Given the description of an element on the screen output the (x, y) to click on. 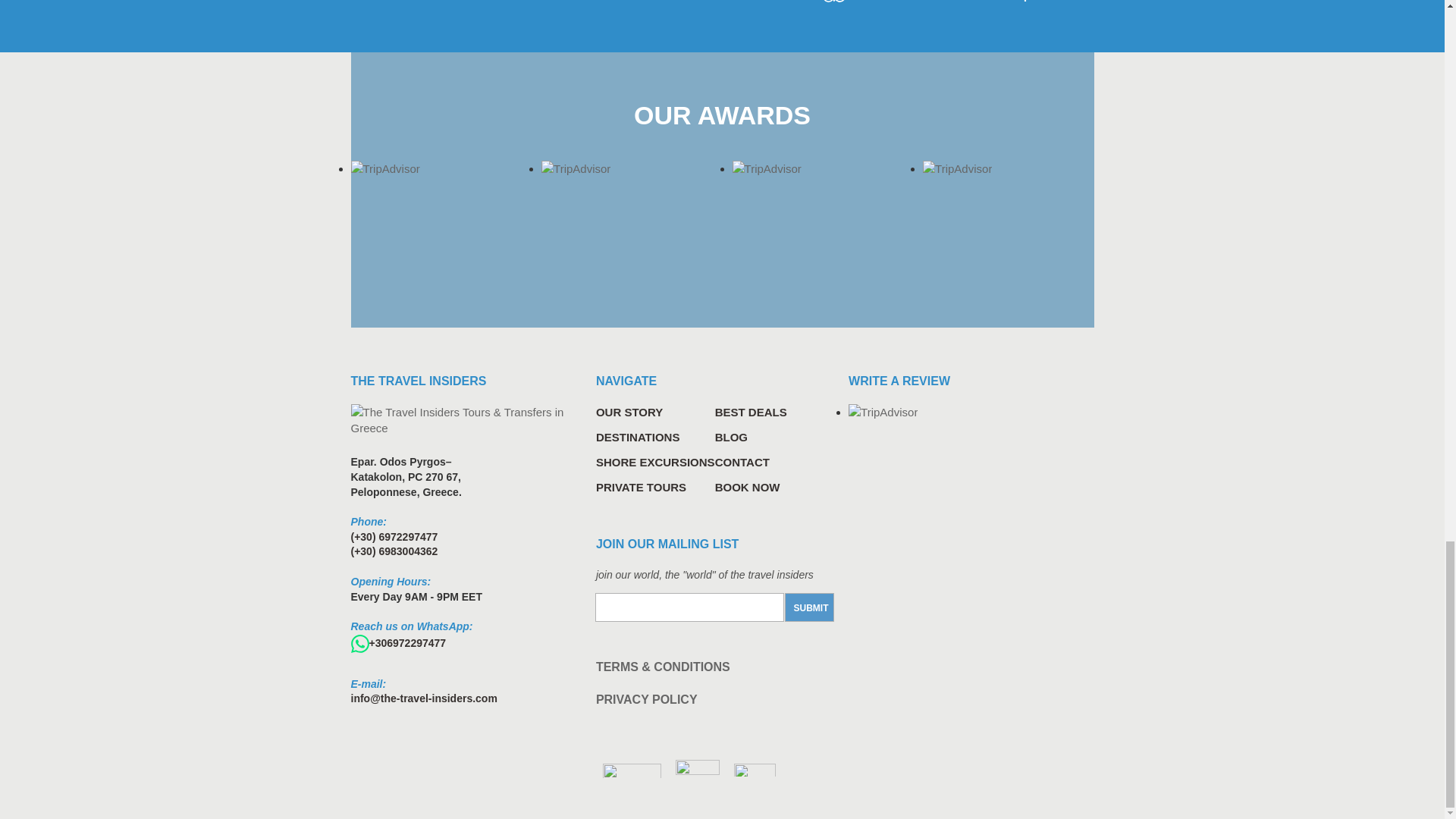
OUR STORY (654, 412)
DESTINATIONS (654, 437)
BOOK NOW (714, 487)
CONTACT (714, 462)
PRIVATE TOURS (654, 487)
Submit (809, 606)
SHORE EXCURSIONS (654, 462)
BLOG (714, 437)
BEST DEALS (714, 412)
